Given the description of an element on the screen output the (x, y) to click on. 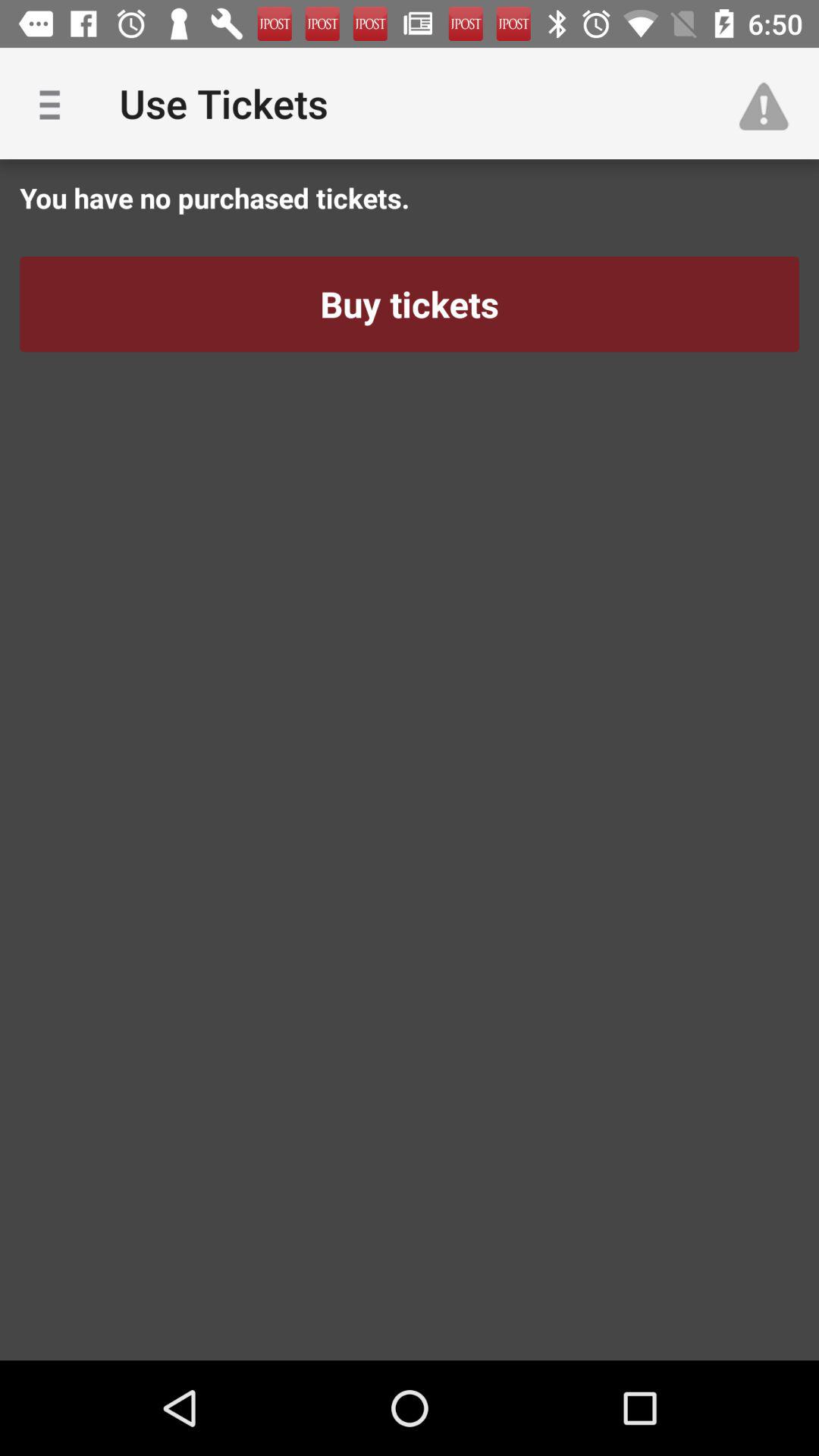
scroll to buy tickets icon (409, 304)
